Given the description of an element on the screen output the (x, y) to click on. 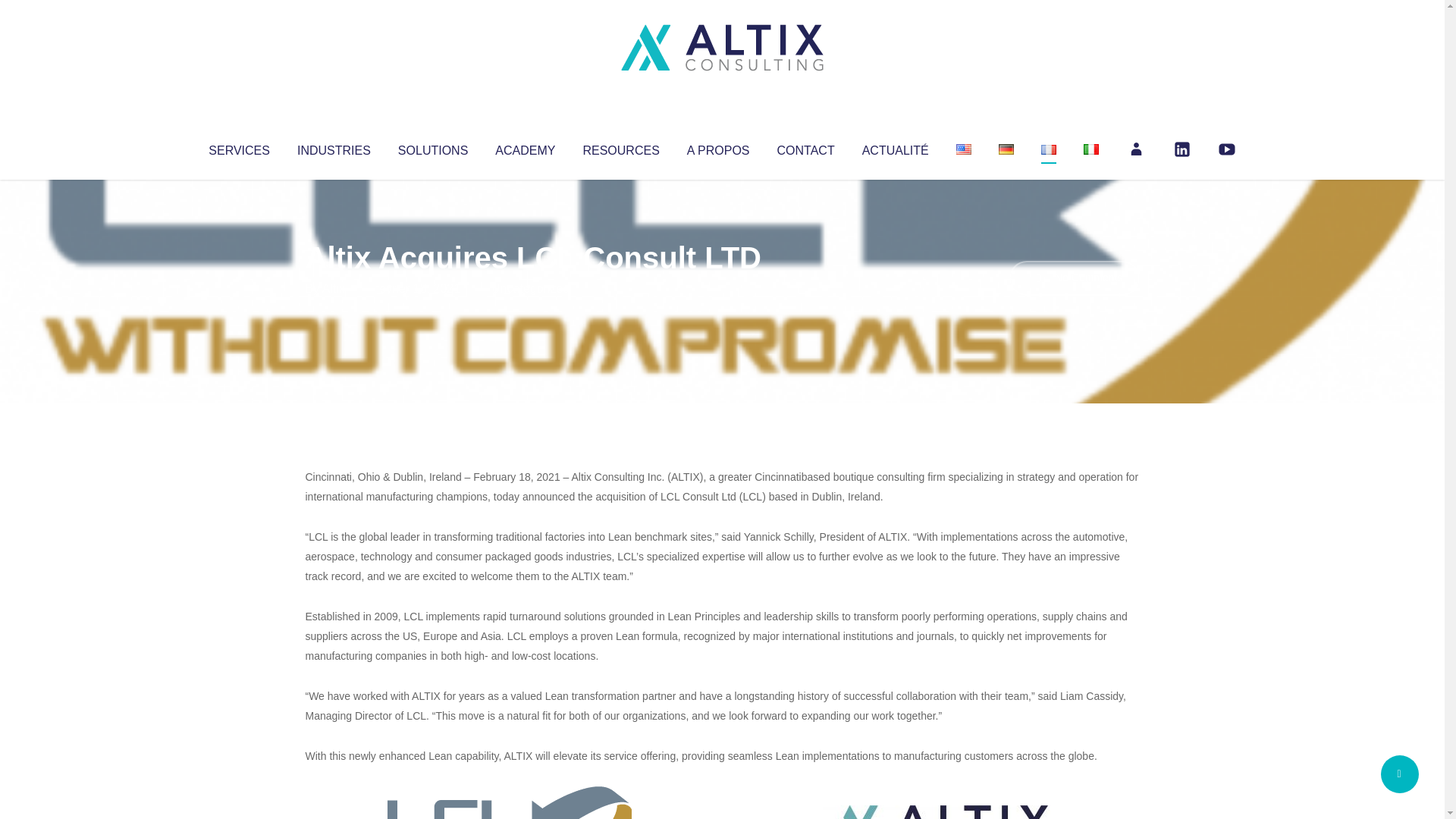
SERVICES (238, 146)
A PROPOS (718, 146)
SOLUTIONS (432, 146)
INDUSTRIES (334, 146)
Altix (333, 287)
Articles par Altix (333, 287)
Uncategorized (530, 287)
No Comments (1073, 278)
RESOURCES (620, 146)
ACADEMY (524, 146)
